Given the description of an element on the screen output the (x, y) to click on. 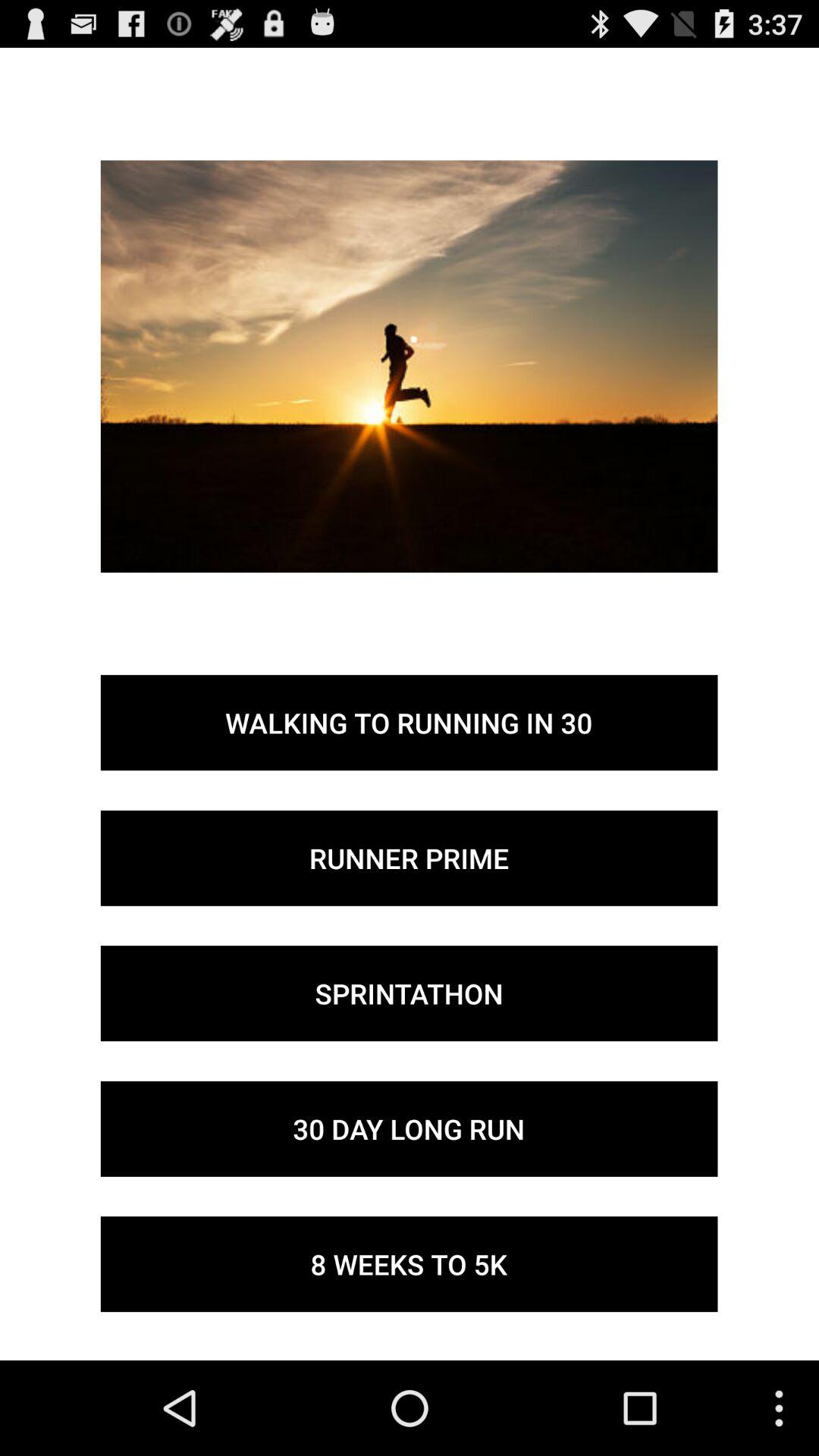
turn off the icon above the runner prime icon (408, 722)
